Given the description of an element on the screen output the (x, y) to click on. 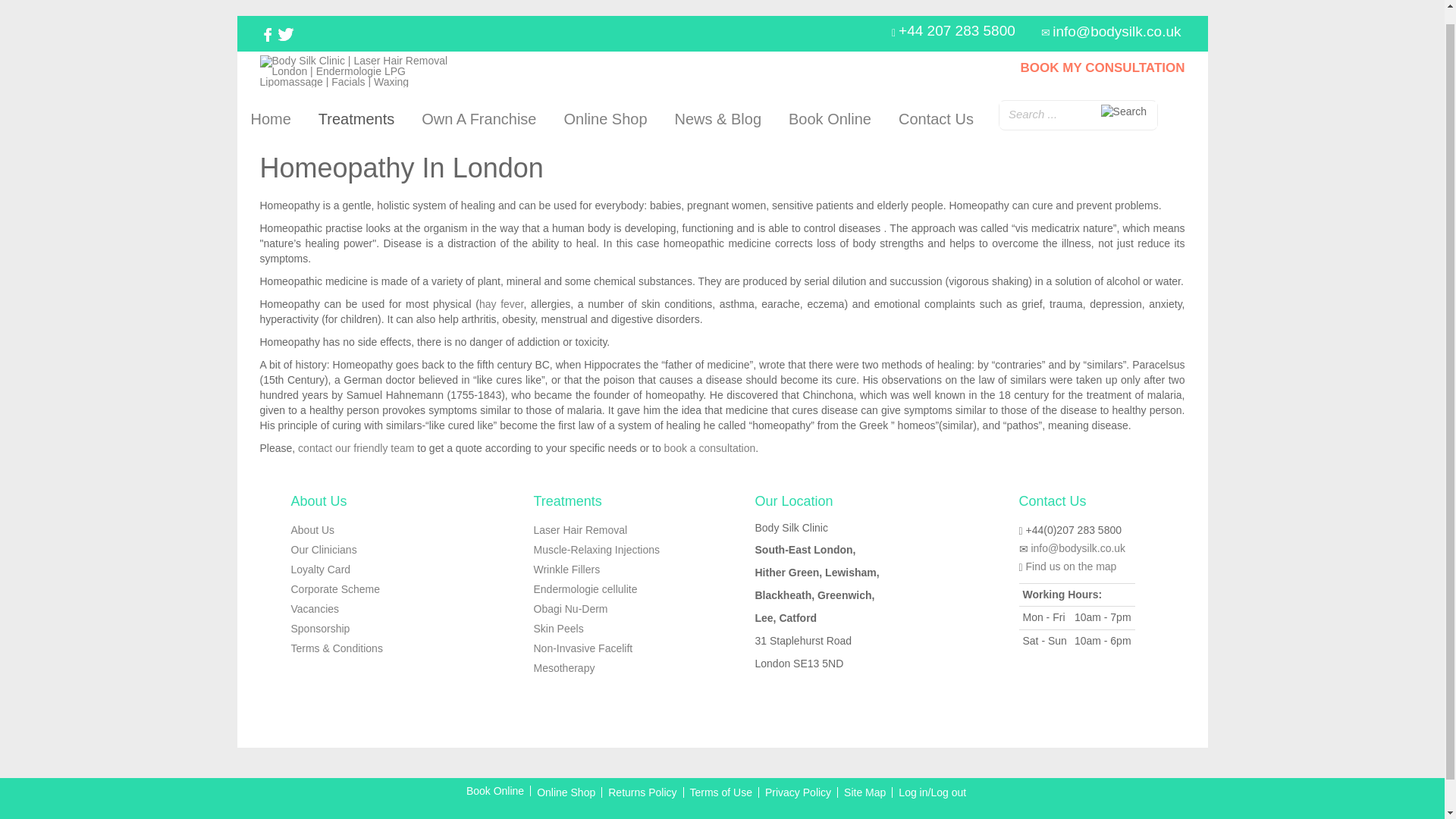
Book Homeopathy Consultation Online (709, 448)
BOOK MY CONSULTATION (1102, 67)
Home (269, 118)
Home page (269, 118)
Contact Body Silk Clinic (355, 448)
Homeopathy Hay Fever (501, 304)
Search ... (1077, 113)
Search (1123, 111)
Treatments (355, 118)
